Given the description of an element on the screen output the (x, y) to click on. 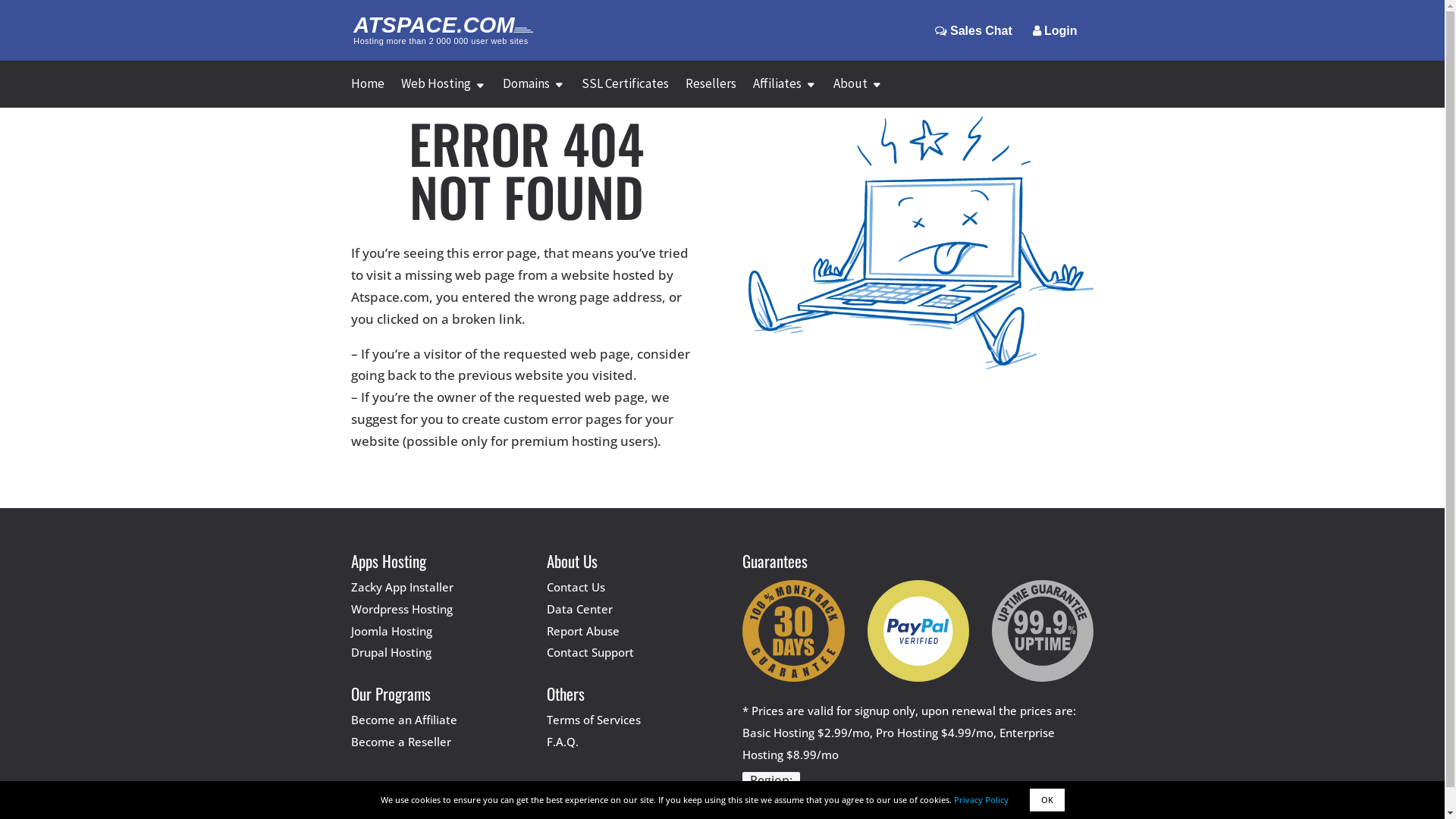
Sales Chat Element type: text (973, 42)
Domains Element type: text (533, 92)
Become an Affiliate Element type: text (403, 719)
Joomla Hosting Element type: text (390, 630)
OK Element type: text (1046, 799)
Wordpress Hosting Element type: text (400, 608)
Zacky App Installer Element type: text (401, 586)
Contact Us Element type: text (575, 586)
Resellers Element type: text (710, 92)
Login Element type: text (1054, 42)
Data Center Element type: text (579, 608)
SSL Certificates Element type: text (624, 92)
Contact Support Element type: text (589, 651)
Web Hosting Element type: text (442, 92)
Privacy Policy Element type: text (980, 799)
Terms of Services Element type: text (593, 719)
Report Abuse Element type: text (582, 630)
Affiliates Element type: text (783, 92)
Home Element type: text (366, 92)
F.A.Q. Element type: text (562, 741)
Drupal Hosting Element type: text (390, 651)
About Element type: text (856, 92)
Sales Chat Element type: text (973, 30)
Become a Reseller Element type: text (400, 741)
